Given the description of an element on the screen output the (x, y) to click on. 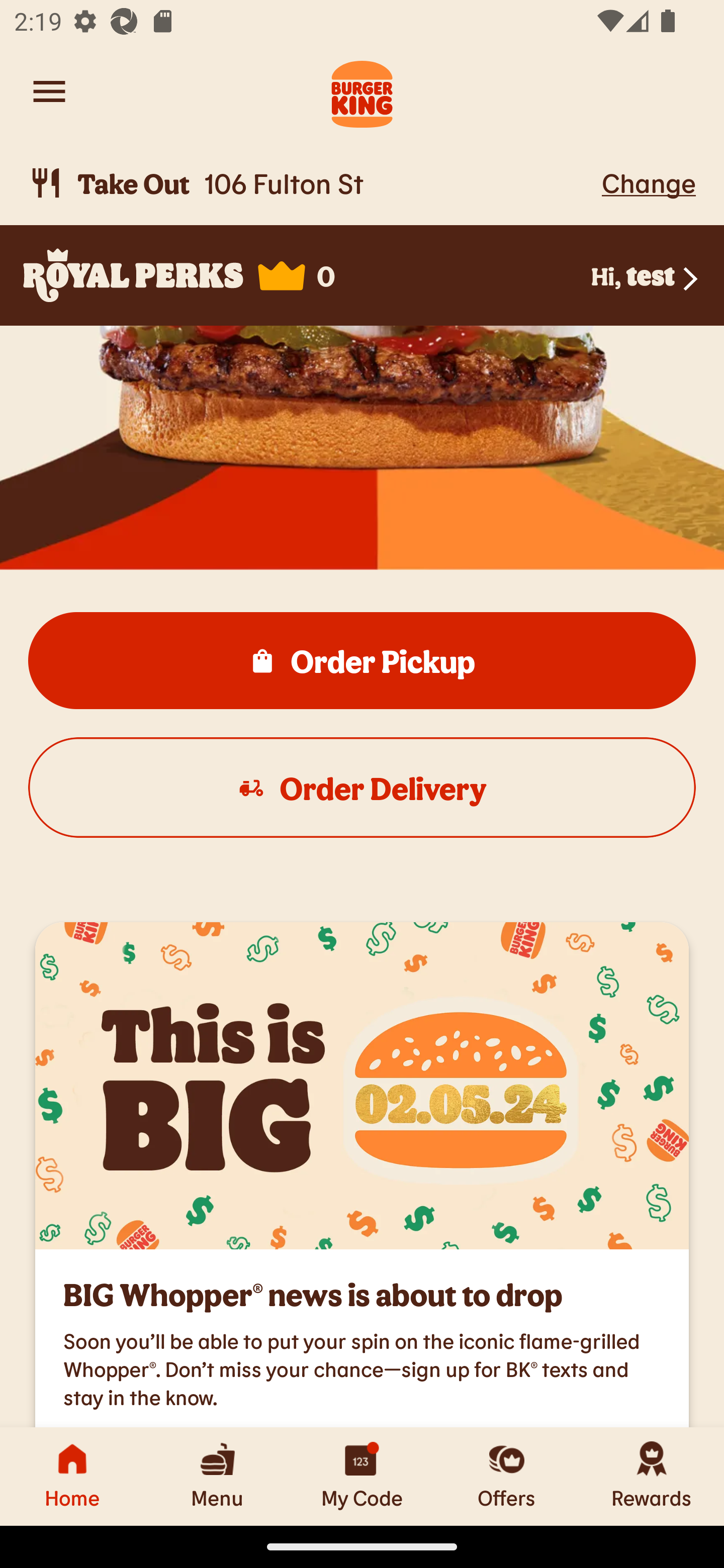
Burger King Logo. Navigate to Home (362, 91)
Navigate to account menu  (49, 91)
Take Out, 106 Fulton St  Take Out 106 Fulton St (311, 183)
Change (648, 182)
, Order Pickup  Order Pickup (361, 659)
, Order Delivery  Order Delivery (361, 786)
MDW Teaser Auth App (361, 1085)
Home (72, 1475)
Menu (216, 1475)
My Code (361, 1475)
Offers (506, 1475)
Rewards (651, 1475)
